Given the description of an element on the screen output the (x, y) to click on. 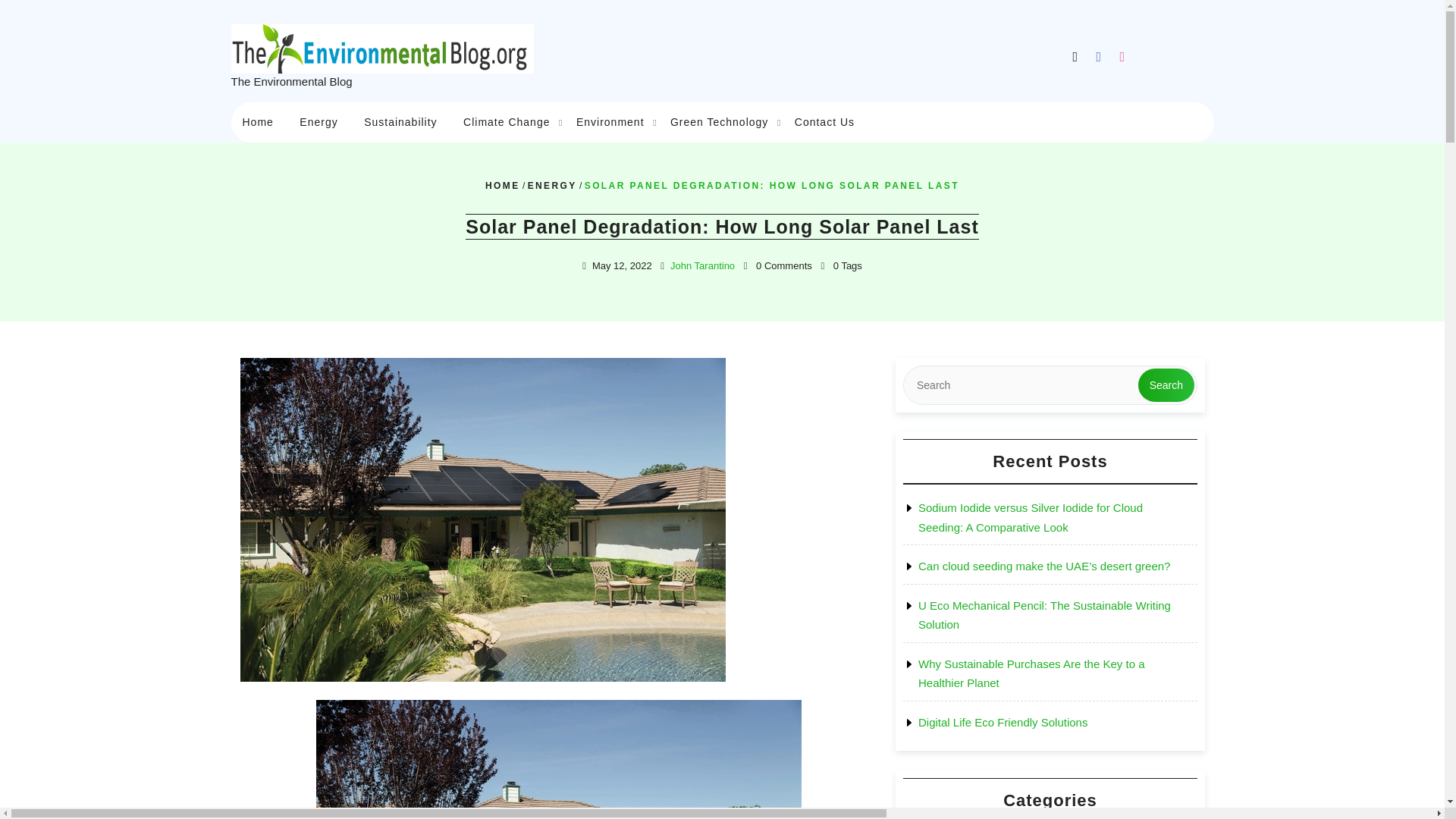
Sustainability (400, 113)
Climate Change (505, 115)
HOME (501, 185)
Energy (318, 111)
Environment (610, 119)
John Tarantino (702, 265)
ENERGY (551, 185)
Green Technology (718, 122)
Contact Us (824, 122)
Home (256, 108)
